Given the description of an element on the screen output the (x, y) to click on. 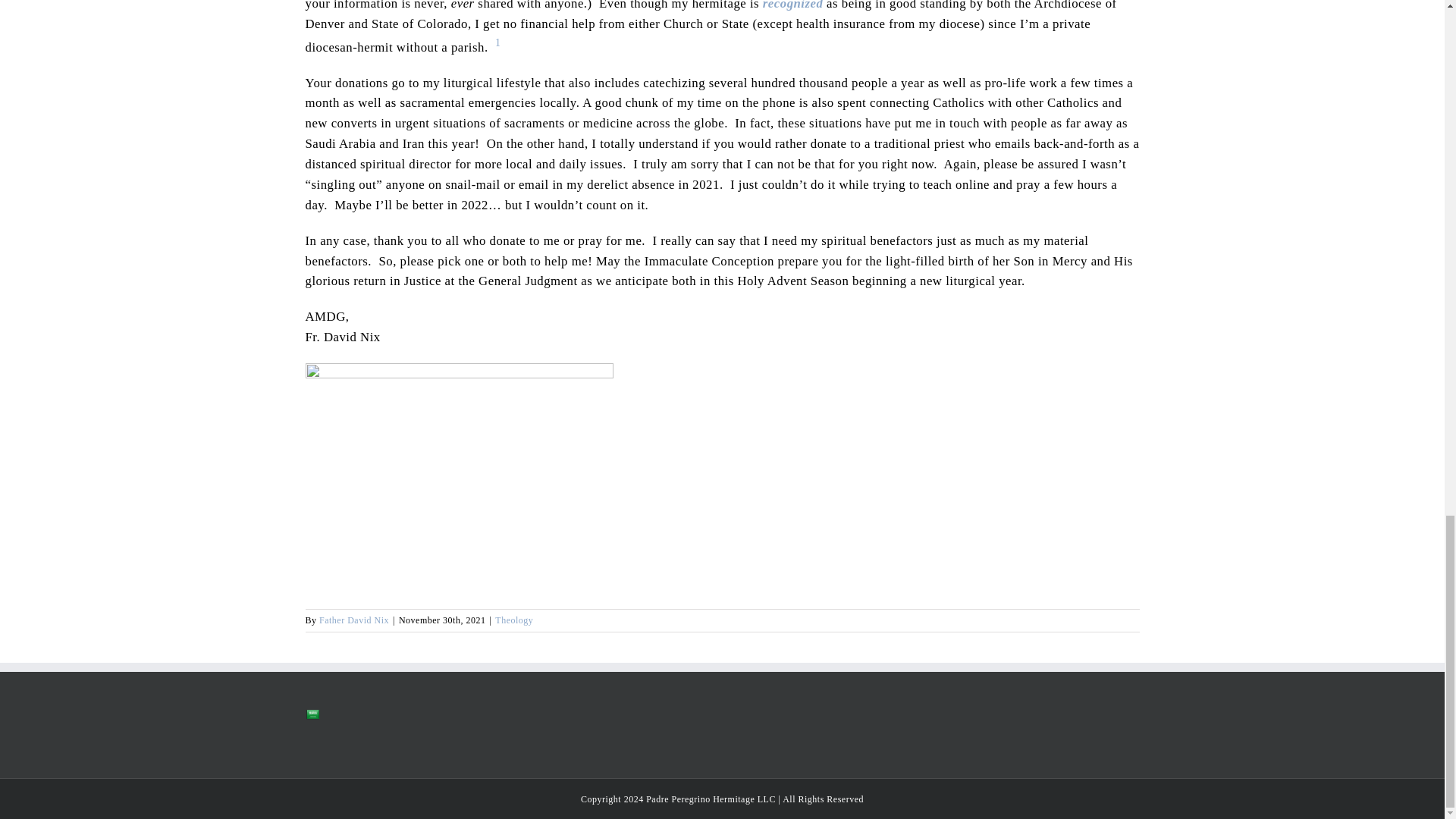
Arabic (311, 713)
Croatian (341, 713)
Korean (341, 734)
Italian (326, 734)
recognized (793, 5)
Hebrew (311, 734)
Latin (357, 734)
Father David Nix (353, 620)
Theology (513, 620)
French (387, 713)
